Given the description of an element on the screen output the (x, y) to click on. 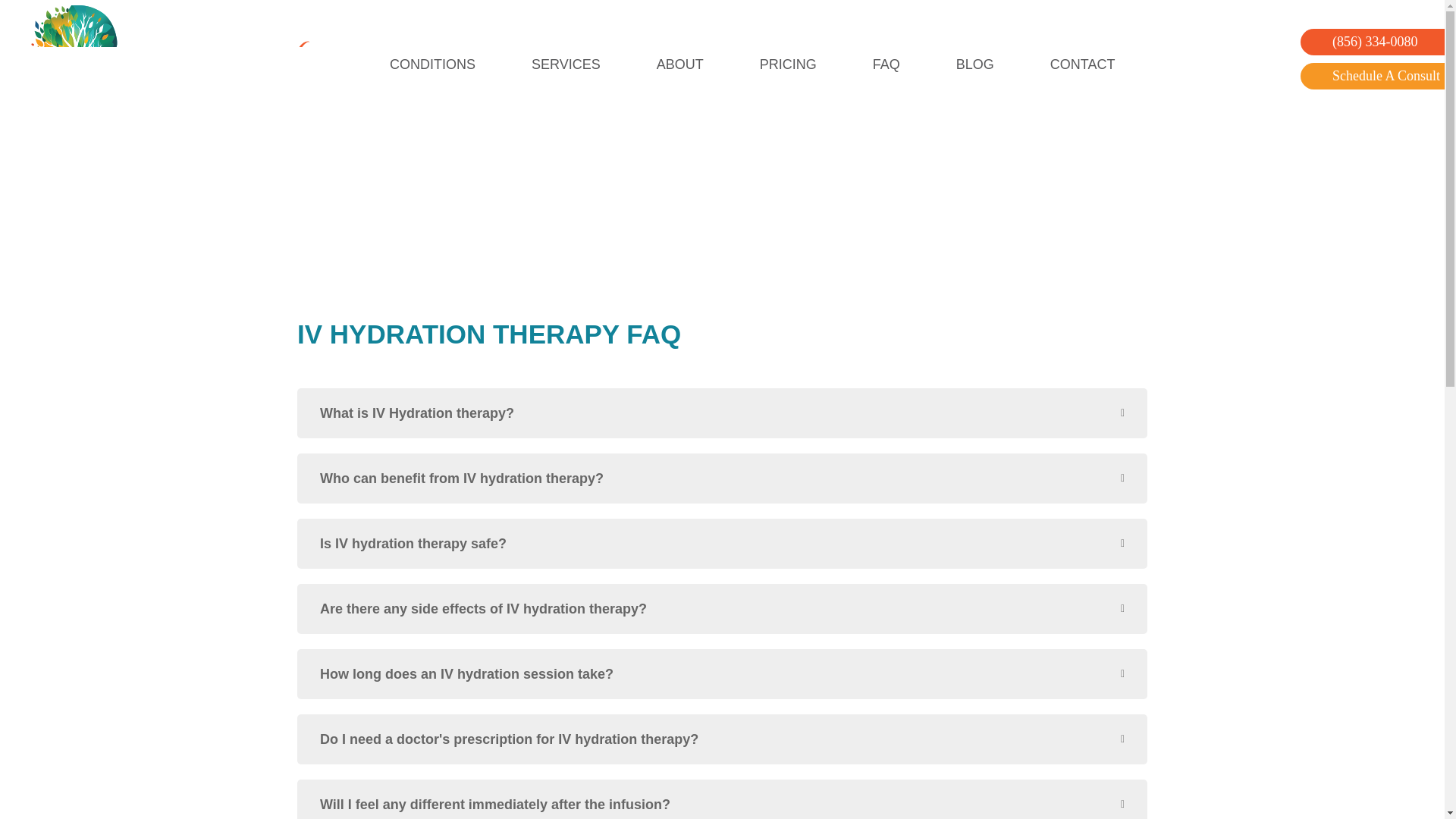
PRICING (788, 64)
CONDITIONS (432, 64)
CONTACT (1082, 64)
FAQ (886, 64)
BLOG (974, 64)
SERVICES (565, 64)
Schedule A Consult (1385, 75)
ABOUT (679, 64)
